Given the description of an element on the screen output the (x, y) to click on. 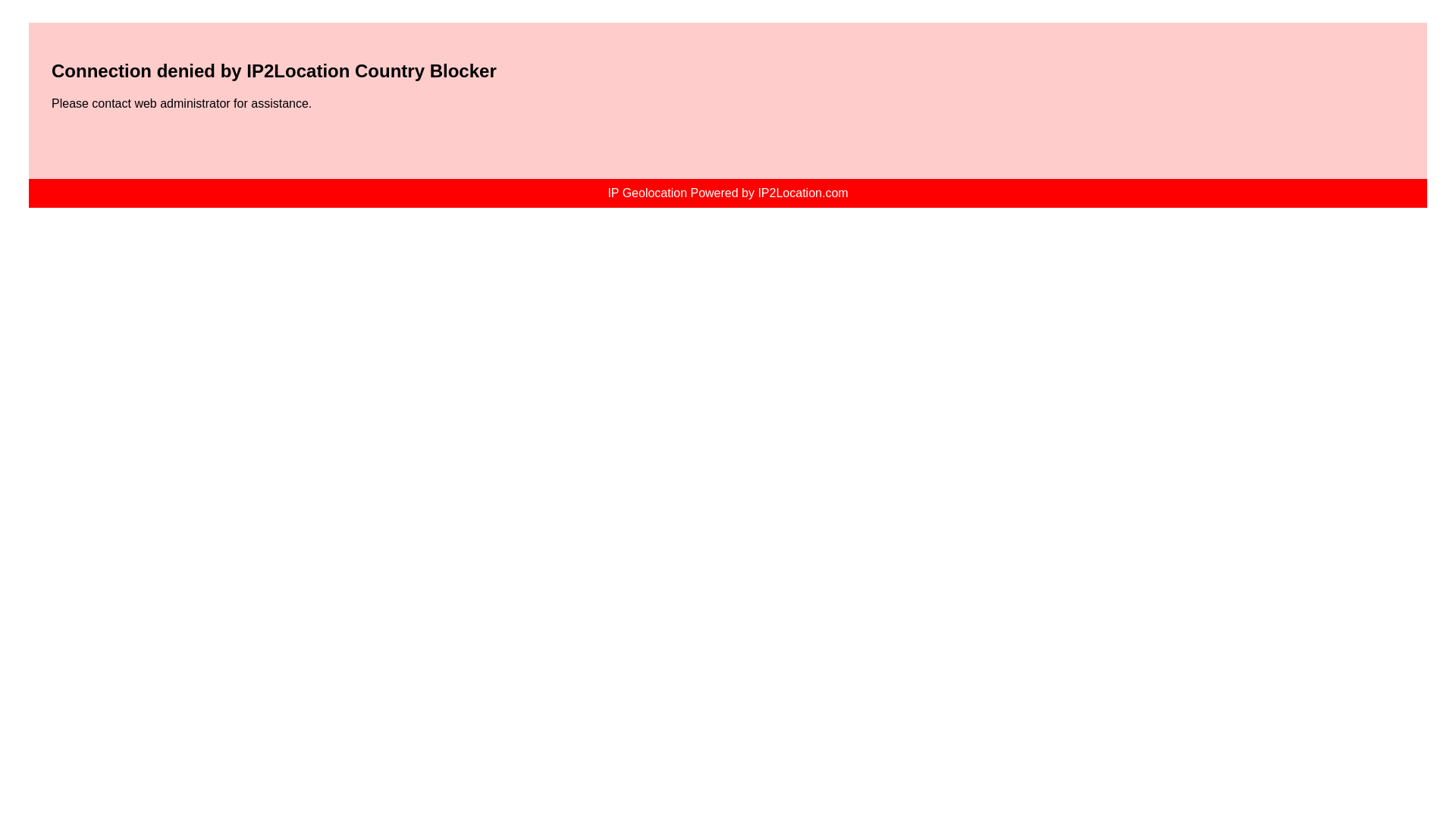
IP Geolocation Powered by IP2Location.com Element type: text (727, 192)
